Given the description of an element on the screen output the (x, y) to click on. 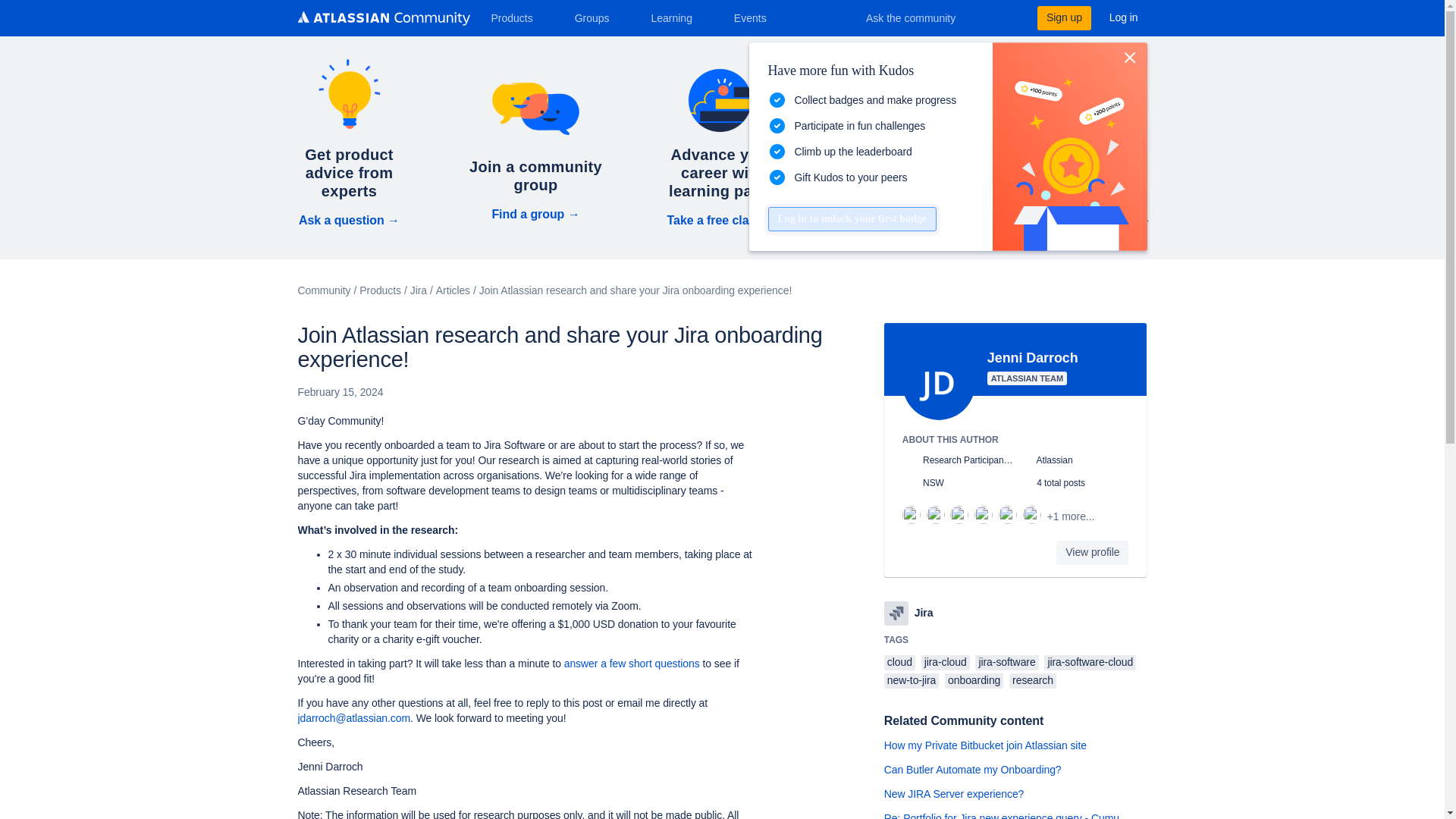
Groups (598, 17)
Jira (895, 612)
Sign up (1063, 17)
Log in (1123, 17)
Ask the community  (921, 17)
Atlassian Community logo (382, 18)
Learning (676, 17)
Products (517, 17)
Log in to unlock your first badge (851, 218)
Atlassian Community logo (382, 19)
